Given the description of an element on the screen output the (x, y) to click on. 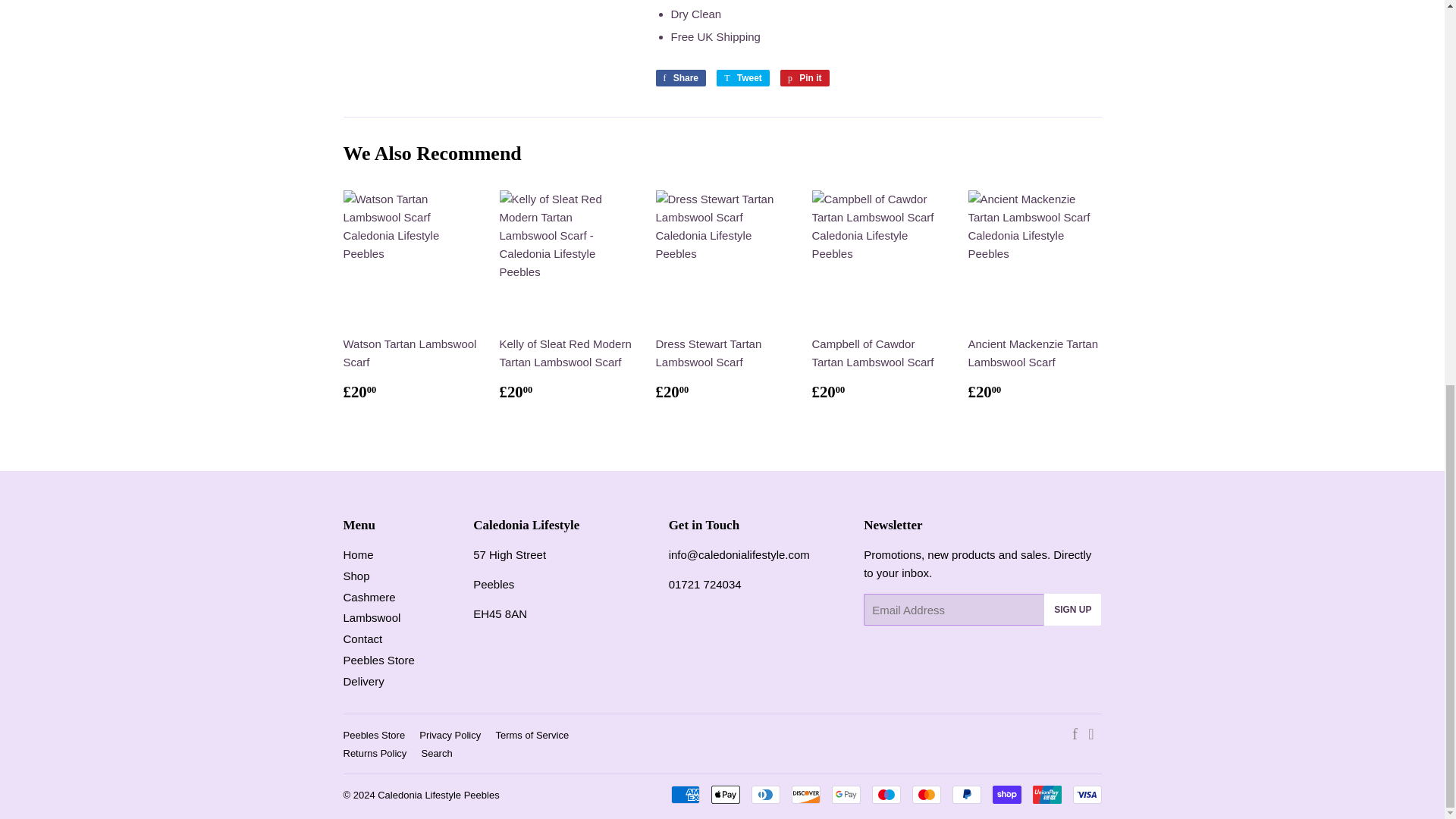
Mastercard (925, 794)
Pin on Pinterest (804, 77)
Shop Pay (1005, 794)
Share on Facebook (680, 77)
Visa (1085, 794)
Discover (806, 794)
Diners Club (764, 794)
Apple Pay (725, 794)
Peebles Store (738, 554)
American Express (683, 794)
